Given the description of an element on the screen output the (x, y) to click on. 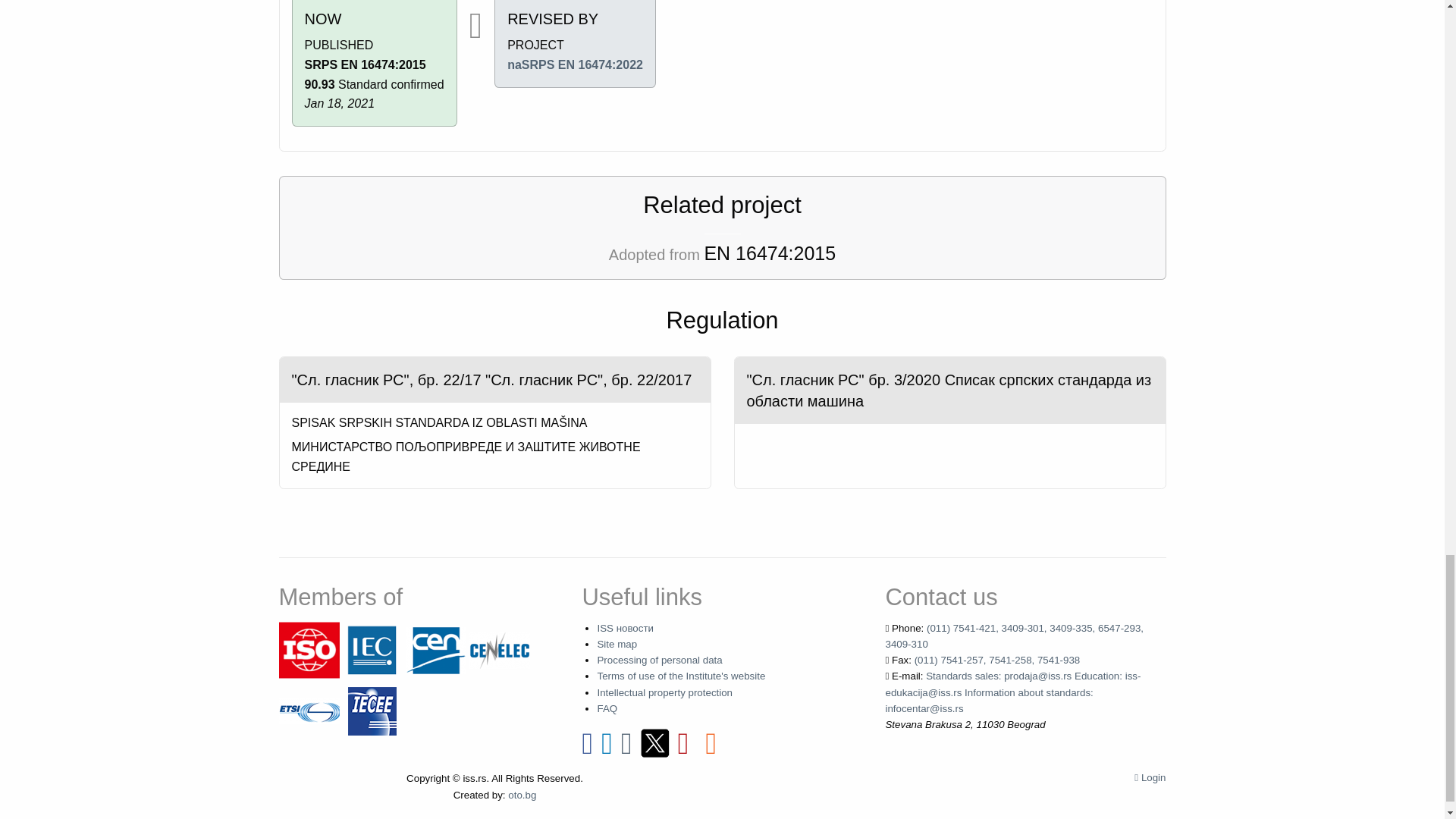
IEC (372, 649)
ETSI (309, 709)
ISO (309, 649)
CEN (435, 649)
IECEE (372, 709)
CENELEC (498, 649)
